Given the description of an element on the screen output the (x, y) to click on. 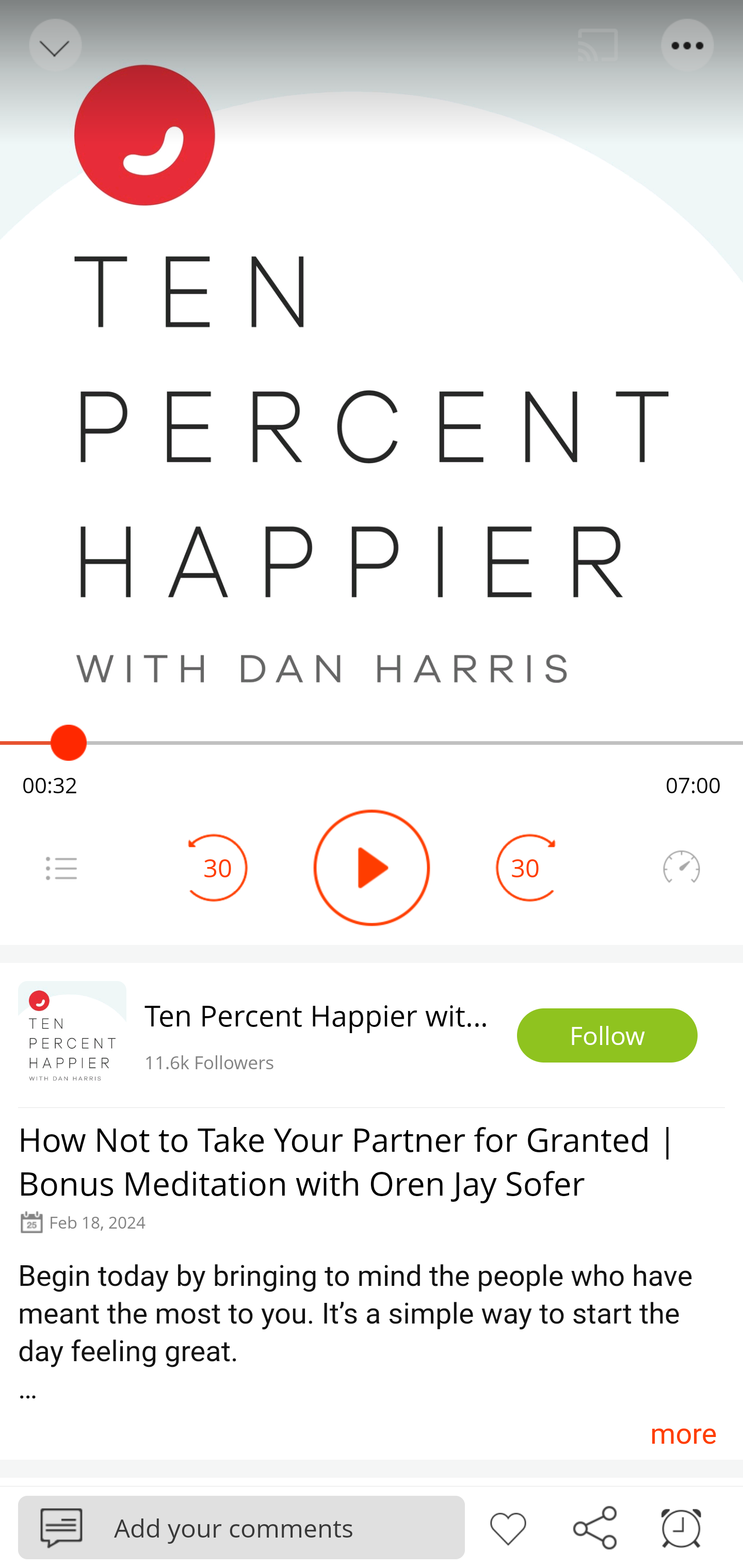
Back (53, 45)
Cast. Disconnected (597, 45)
Menu (688, 45)
Play (371, 867)
30 Seek Backward (217, 867)
30 Seek Forward (525, 867)
Menu (60, 867)
Speedometer (681, 867)
Follow (607, 1035)
more (682, 1432)
Like (508, 1526)
Share (594, 1526)
Sleep timer (681, 1526)
Podbean Add your comments (241, 1526)
